Given the description of an element on the screen output the (x, y) to click on. 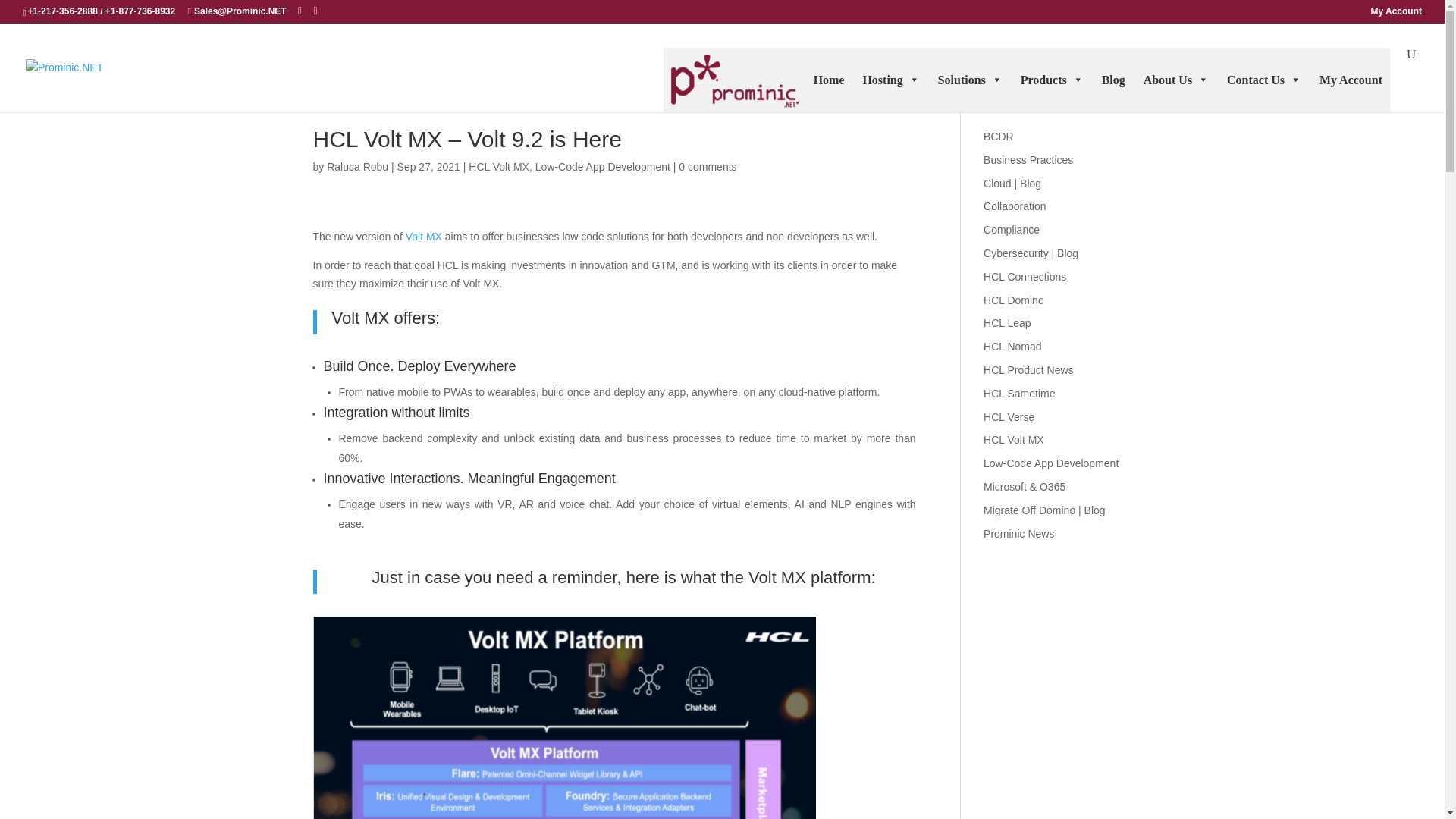
Posts by Raluca Robu (357, 166)
VoltMX9.2 (564, 717)
Hosting (890, 79)
Solutions (970, 79)
My Account (1396, 14)
